Given the description of an element on the screen output the (x, y) to click on. 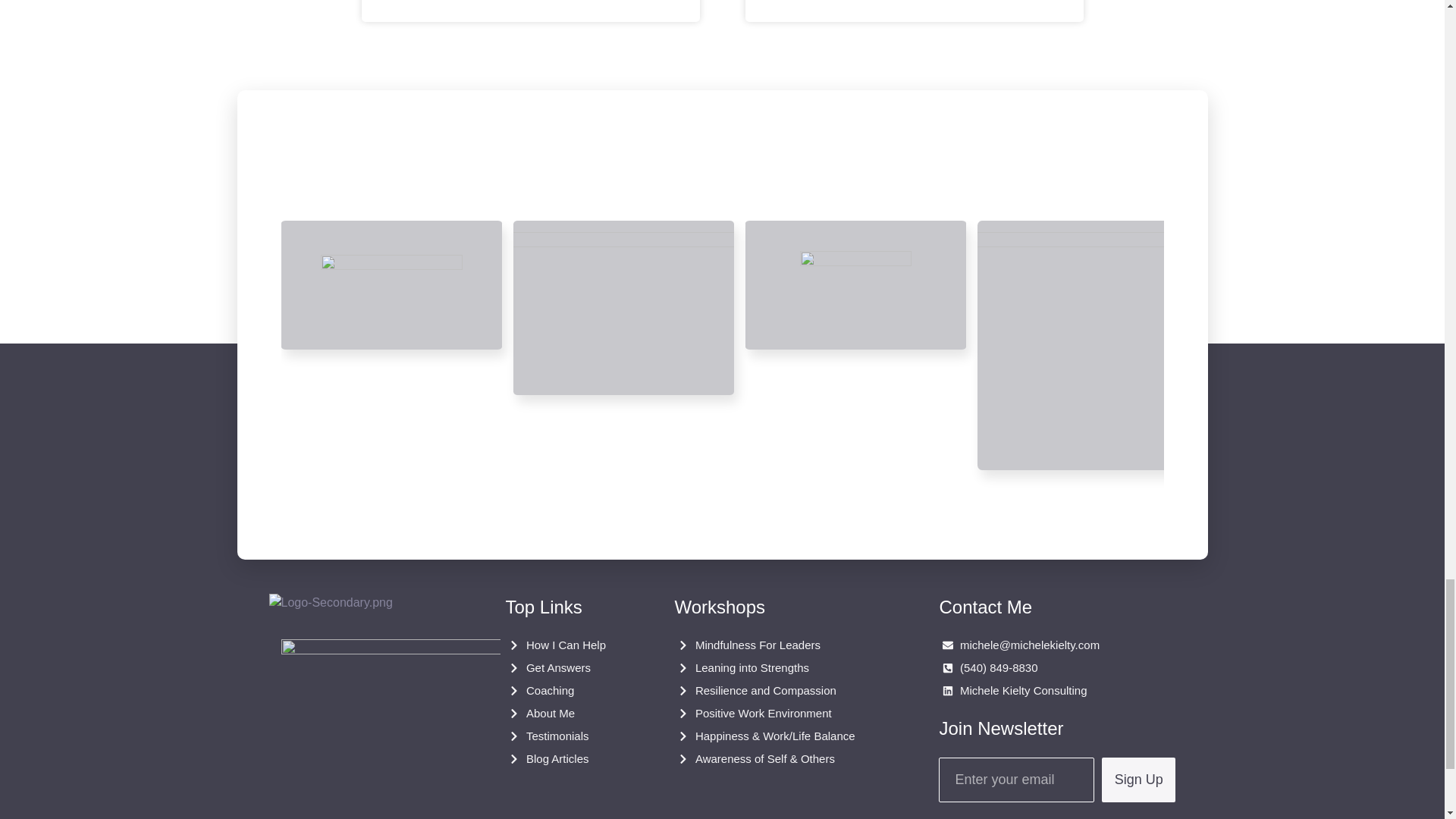
How I Can Help (567, 645)
Resilience and Compassion (783, 690)
Logo-Secondary.png (329, 602)
Mindfulness For Leaders (783, 645)
Leaning into Strengths (783, 668)
Coaching (567, 690)
Get Answers (567, 668)
Michele Kielty Consulting (1058, 690)
Positive Work Environment (783, 713)
Blog Articles (567, 759)
